Given the description of an element on the screen output the (x, y) to click on. 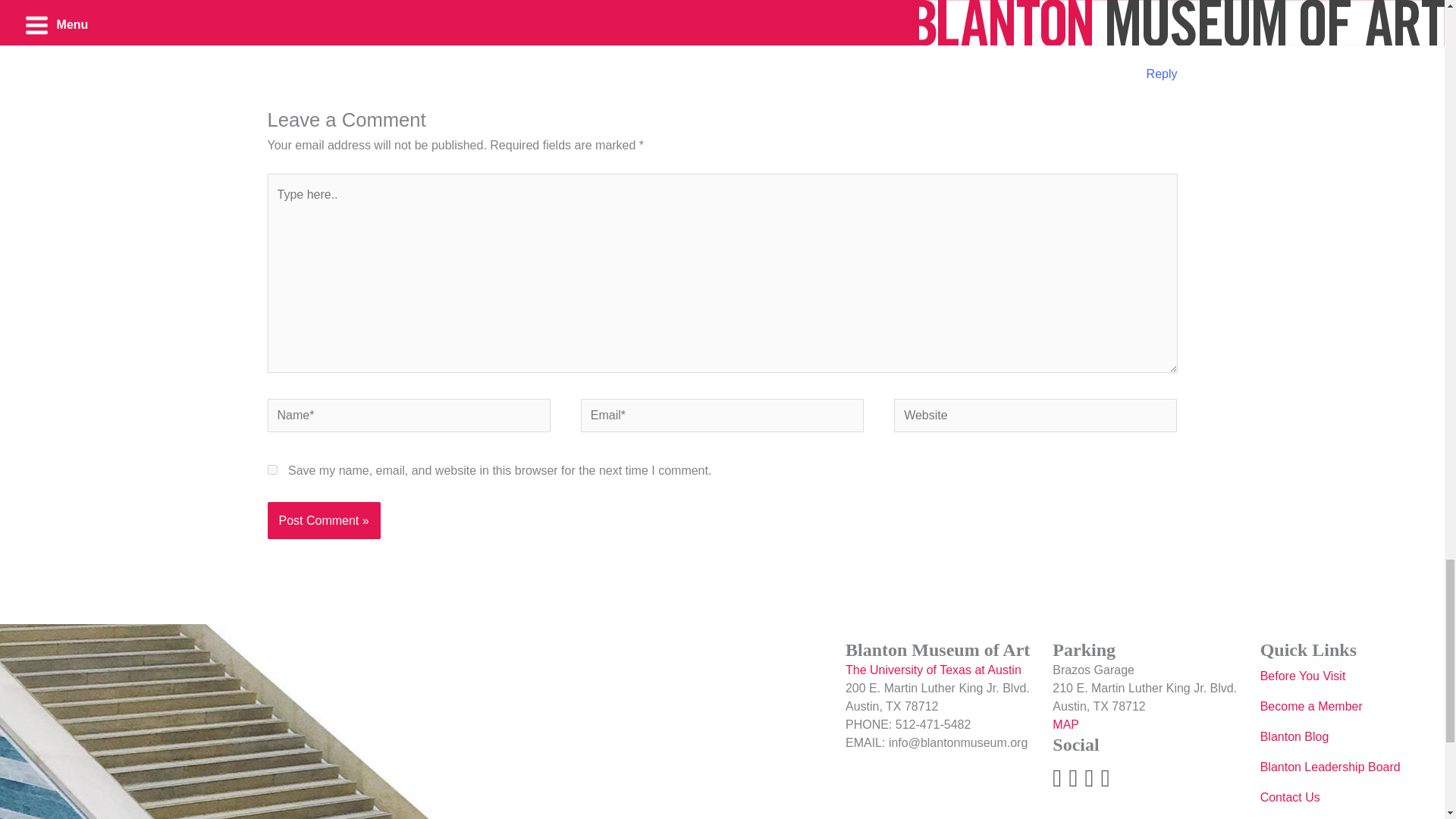
yes (271, 470)
